Given the description of an element on the screen output the (x, y) to click on. 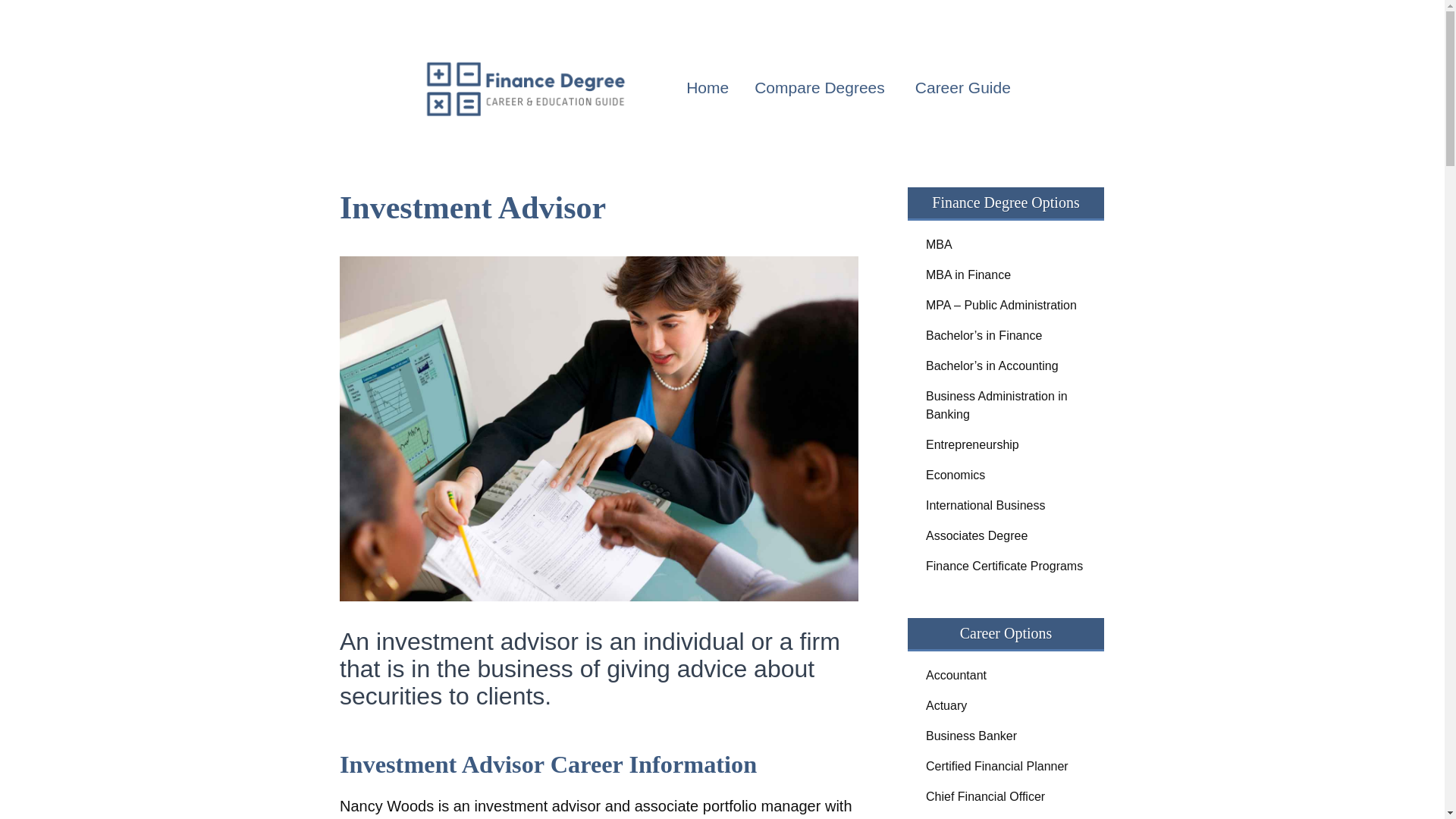
BA Finance (1005, 336)
Business Banker (1005, 736)
Associates Degree (1005, 535)
Business Administration in Banking (1005, 405)
Compare Degrees (821, 87)
Finance Certificate Programs (1005, 566)
International Business Degree (1005, 505)
MBA in Finance (1005, 275)
Entrepreneurship Degree (1005, 444)
Comptroller (1005, 815)
Accountant (1005, 675)
Economics (1005, 475)
Chief Financial Officer (1005, 797)
Economics Degree (1005, 475)
Finance Certificate Programs (1005, 566)
